Given the description of an element on the screen output the (x, y) to click on. 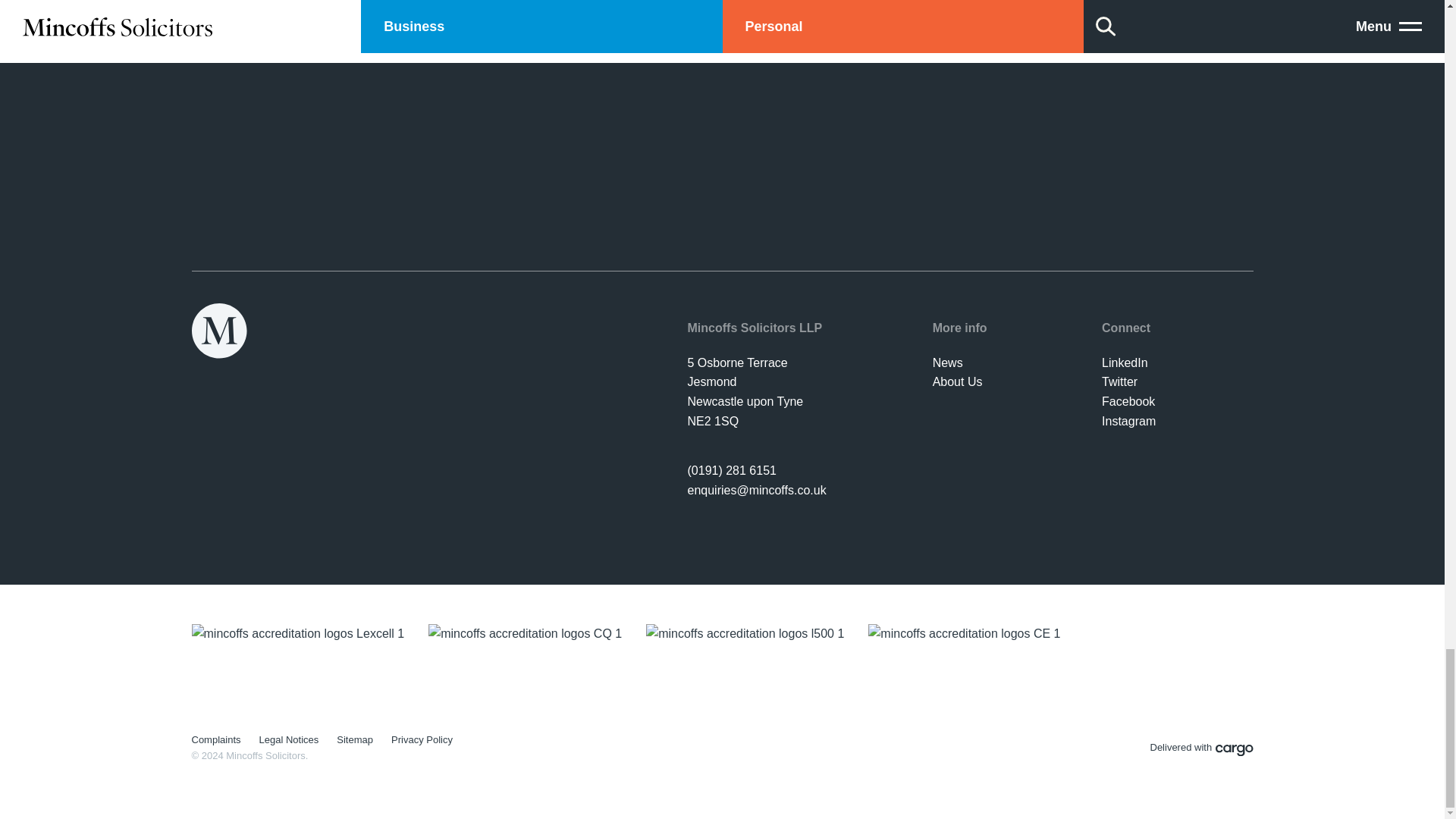
Connect with Mincoffs Solicitors on LinkedIn (1125, 362)
Follow Mincoffs Solicitors on Instagram (1129, 420)
Follow Mincoffs Solicitors on Twitter (1119, 381)
Like Mincoffs Solicitors on Facebook (1128, 400)
